Given the description of an element on the screen output the (x, y) to click on. 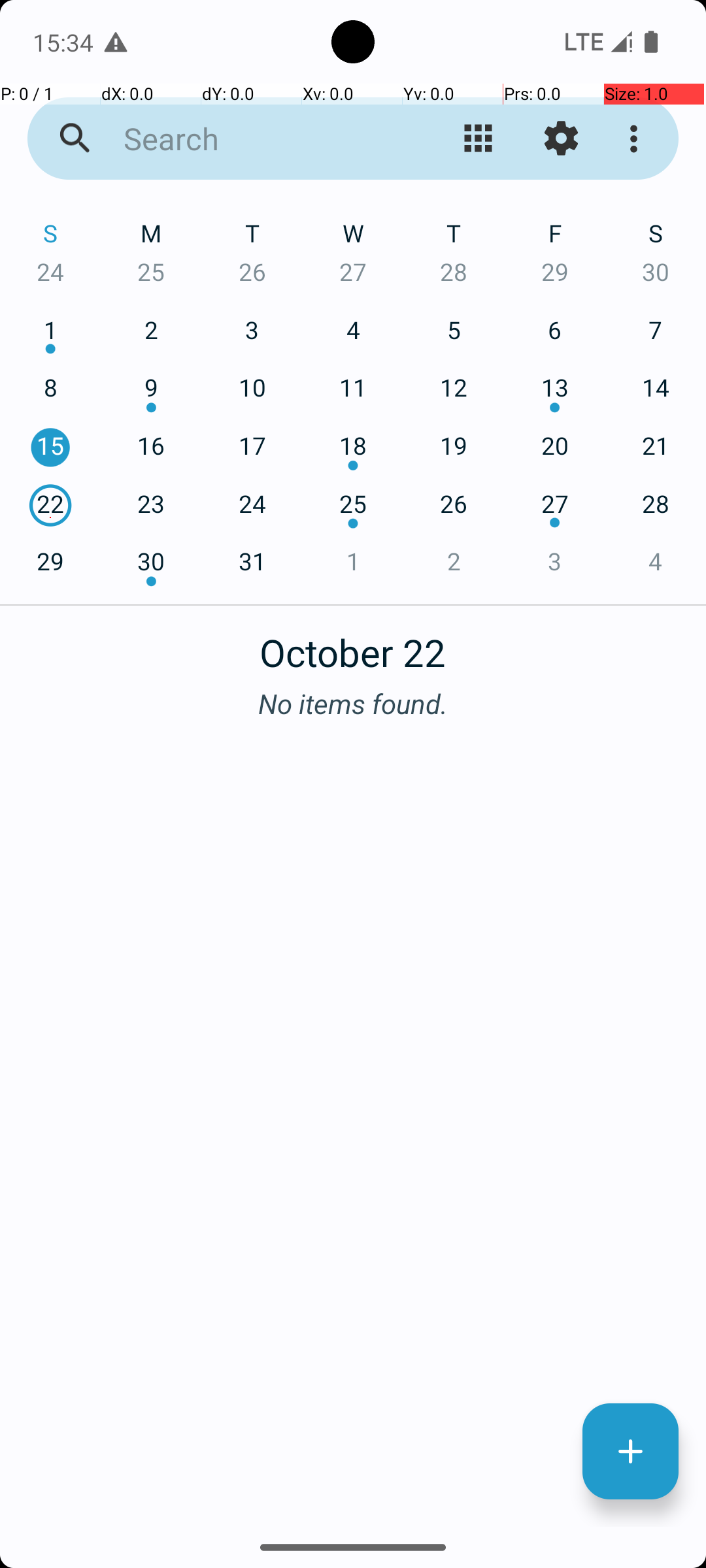
October 22 Element type: android.widget.TextView (352, 644)
